Given the description of an element on the screen output the (x, y) to click on. 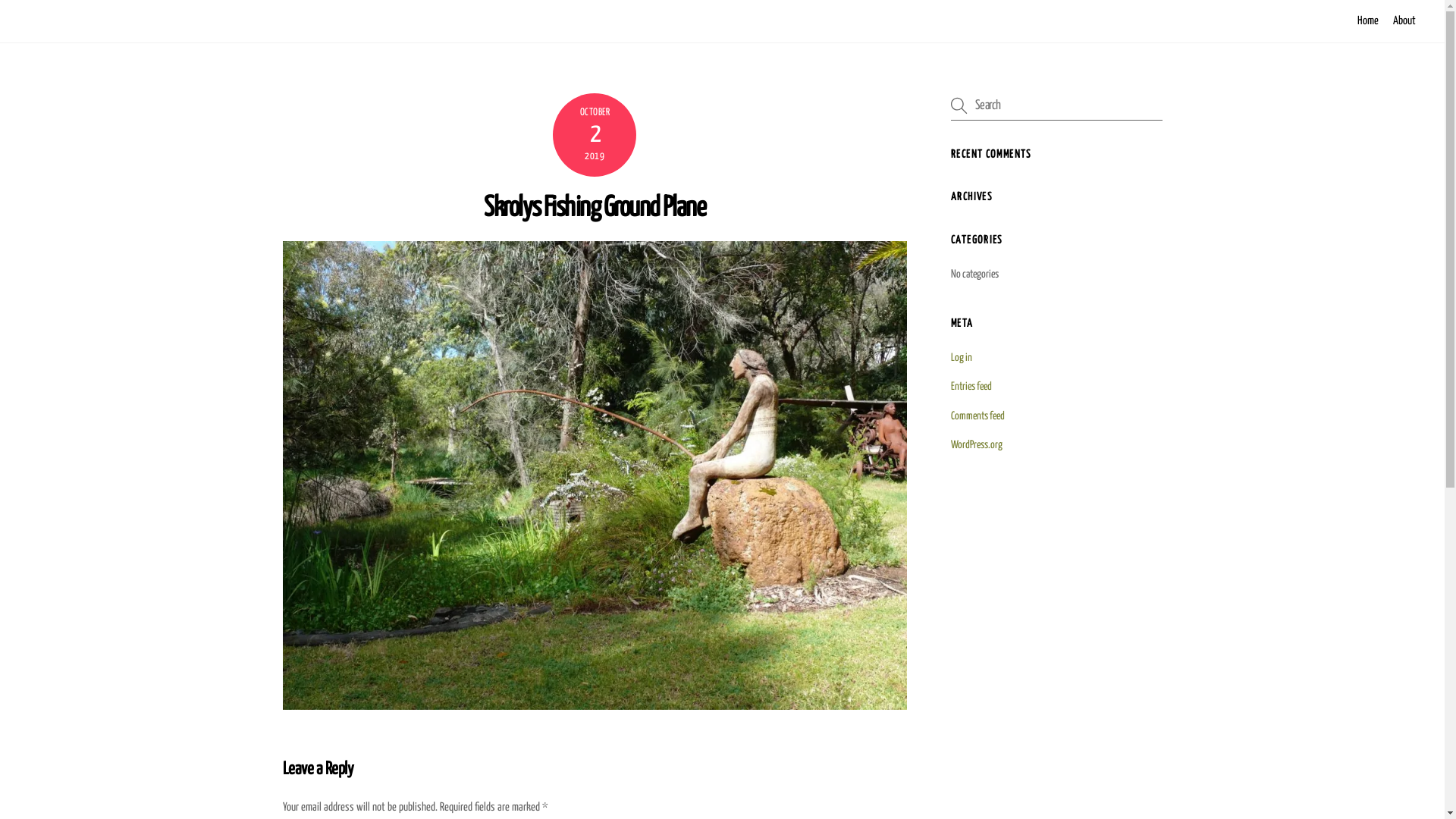
Entries feed Element type: text (970, 386)
Home Element type: text (1368, 20)
Search Element type: hover (1055, 106)
Log in Element type: text (961, 357)
Skrolys Fishing Ground Plane Element type: text (594, 208)
WordPress.org Element type: text (976, 444)
Comments feed Element type: text (977, 416)
About Element type: text (1404, 20)
